Given the description of an element on the screen output the (x, y) to click on. 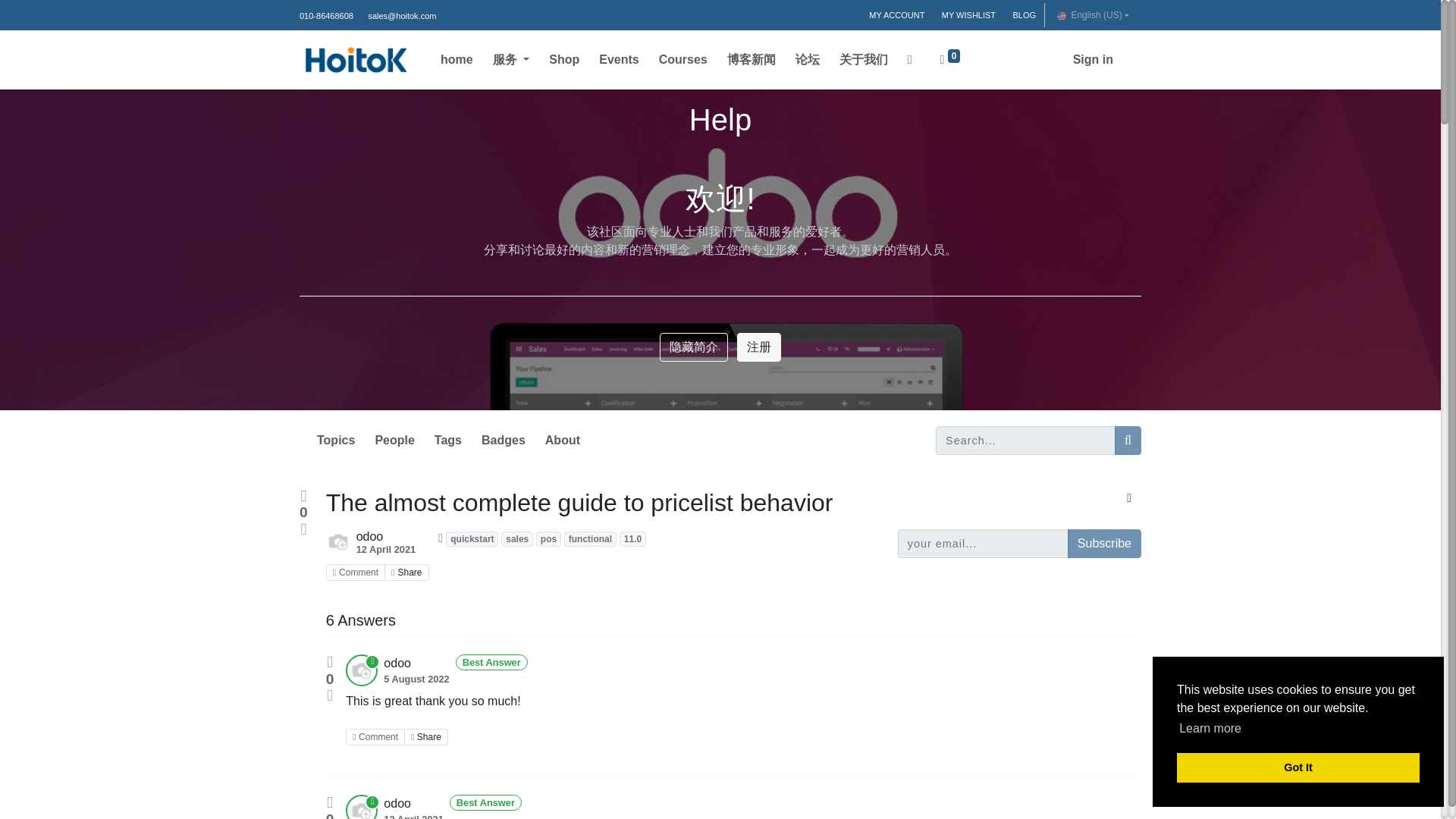
People (394, 440)
Badges (503, 440)
Learn more (1209, 728)
Got It (1297, 767)
Tags (447, 440)
Courses (682, 60)
0 (950, 60)
Sign in (1093, 60)
MY WISHLIST (968, 14)
home (456, 60)
